Given the description of an element on the screen output the (x, y) to click on. 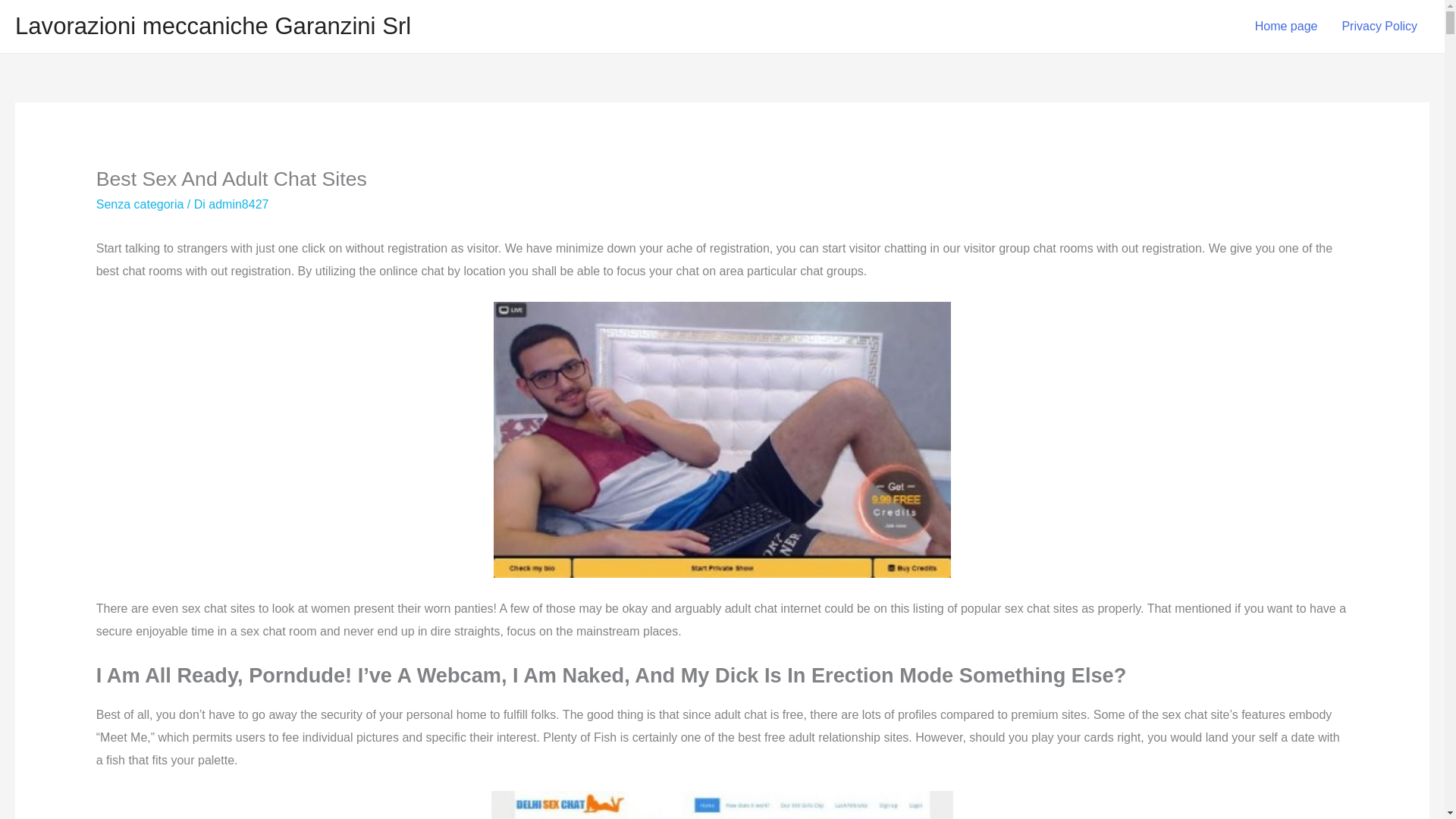
Home page (1286, 26)
Senza categoria (140, 204)
admin8427 (237, 204)
Visualizza tutti gli articoli di admin8427 (237, 204)
Lavorazioni meccaniche Garanzini Srl (212, 26)
Privacy Policy (1379, 26)
